Given the description of an element on the screen output the (x, y) to click on. 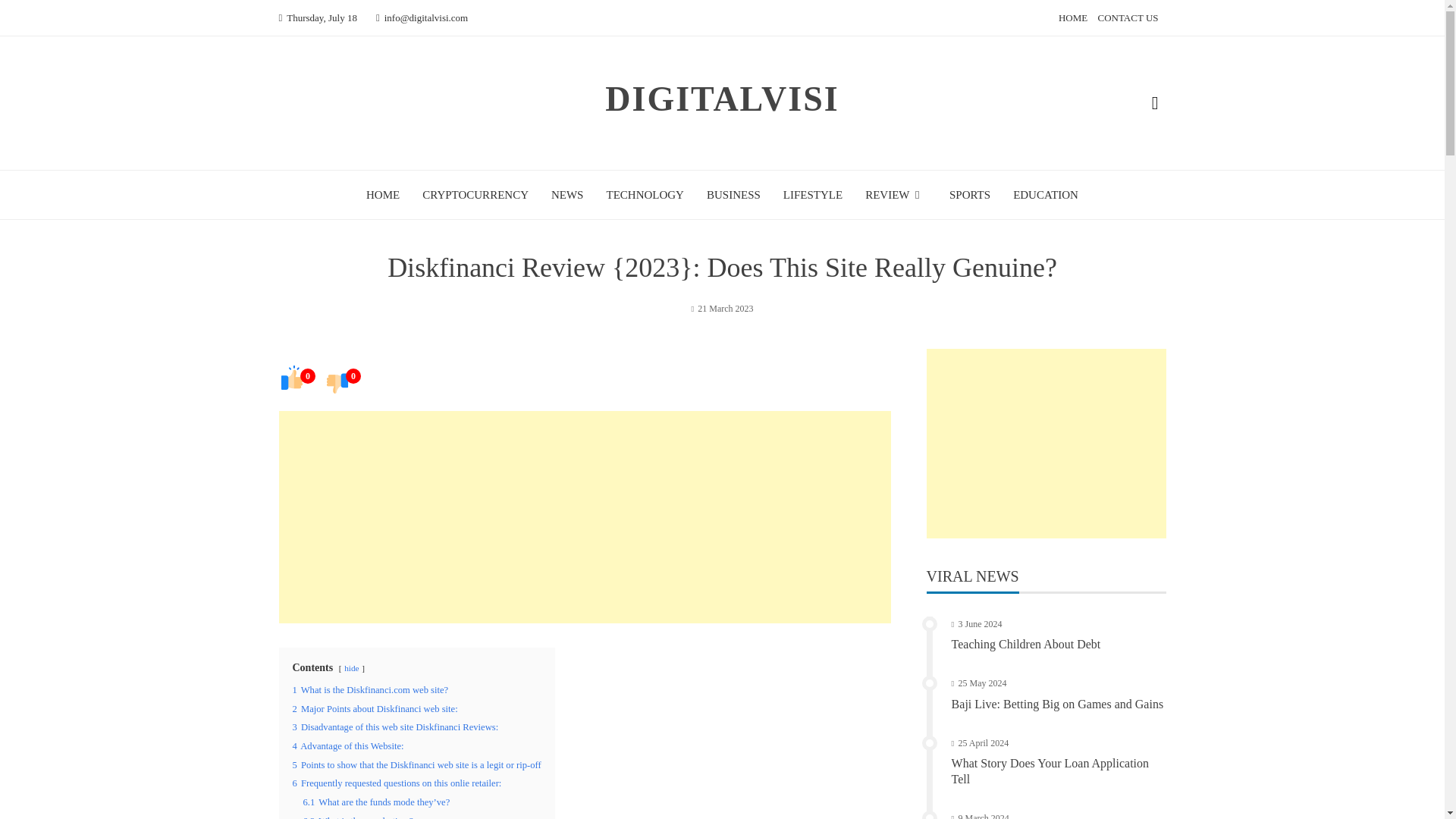
4 Advantage of this Website: (348, 746)
1 What is the Diskfinanci.com web site? (370, 689)
hide (350, 667)
TECHNOLOGY (644, 194)
6.2 What is the supply time? (357, 817)
NEWS (567, 194)
SPORTS (969, 194)
6 Frequently requested questions on this onlie retailer: (397, 783)
BUSINESS (733, 194)
LIFESTYLE (813, 194)
3 Disadvantage of this web site Diskfinanci Reviews: (395, 726)
Advertisement (585, 517)
HOME (382, 194)
CONTACT US (1127, 17)
